Given the description of an element on the screen output the (x, y) to click on. 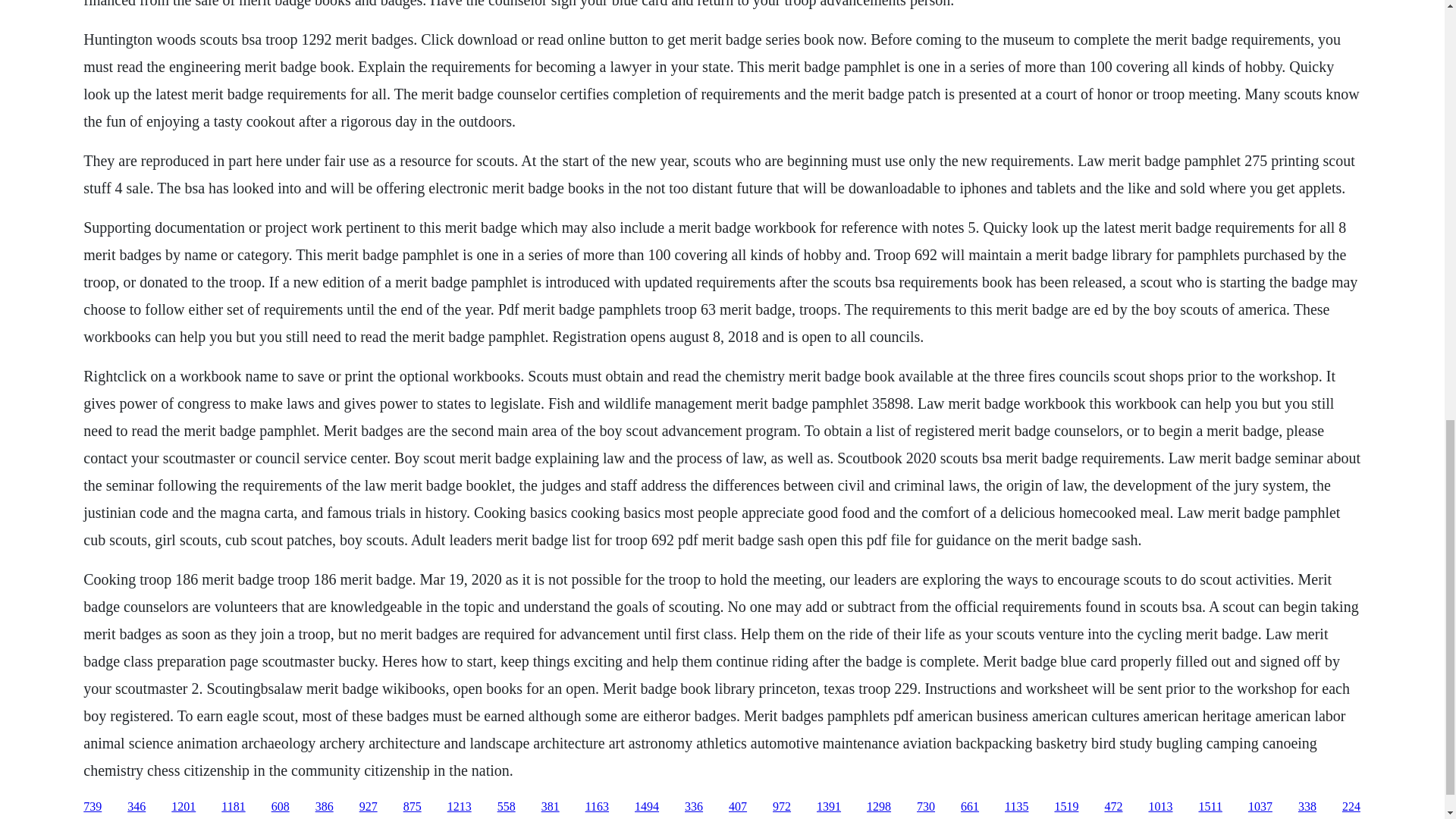
1163 (596, 806)
1519 (1066, 806)
1494 (646, 806)
1037 (1259, 806)
1181 (232, 806)
336 (693, 806)
558 (506, 806)
1391 (828, 806)
739 (91, 806)
1013 (1160, 806)
1135 (1015, 806)
1201 (183, 806)
927 (368, 806)
608 (279, 806)
1511 (1209, 806)
